Given the description of an element on the screen output the (x, y) to click on. 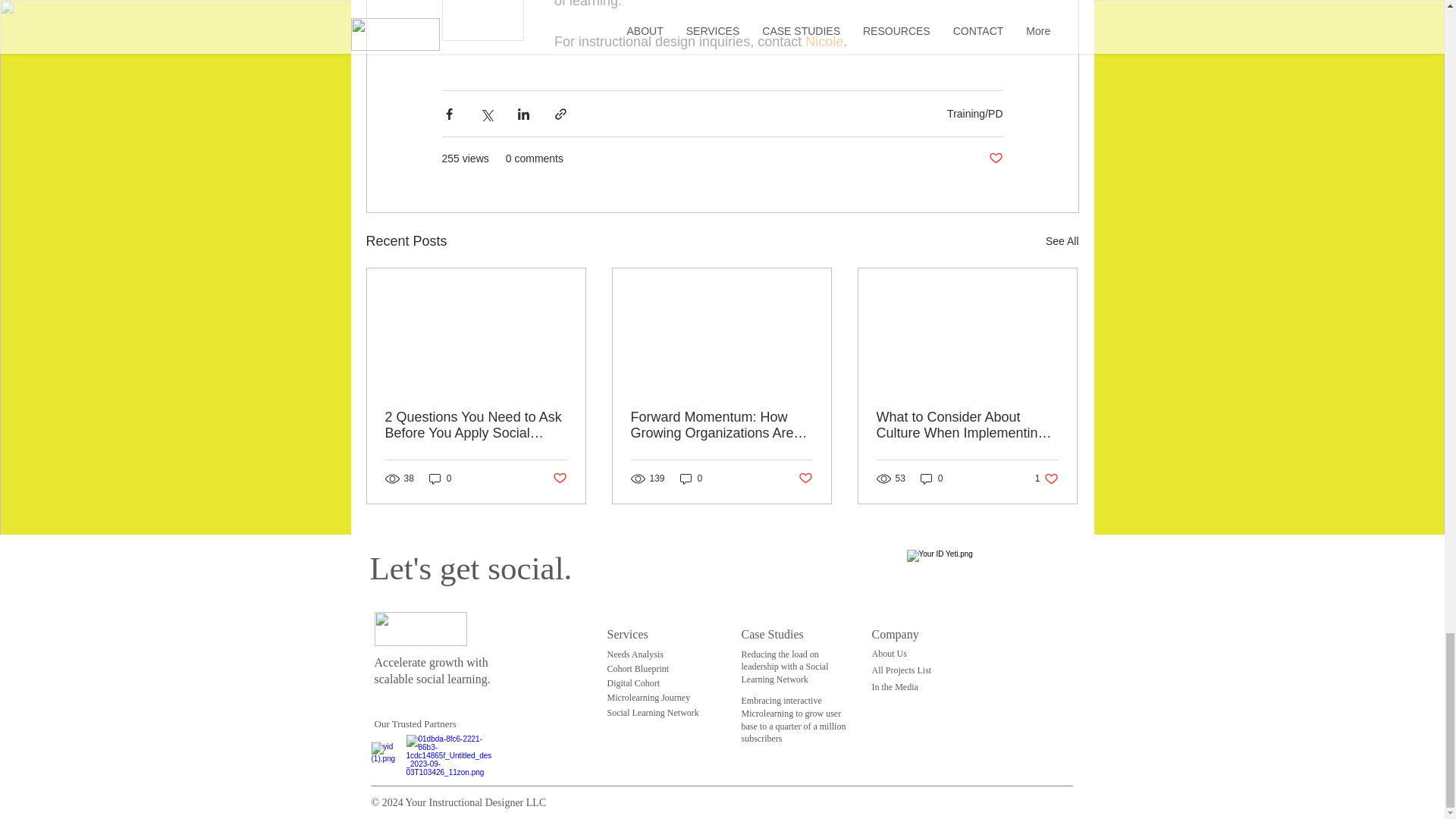
Post not marked as liked (995, 158)
Nicole (824, 41)
YID logo color small.png (420, 628)
